Given the description of an element on the screen output the (x, y) to click on. 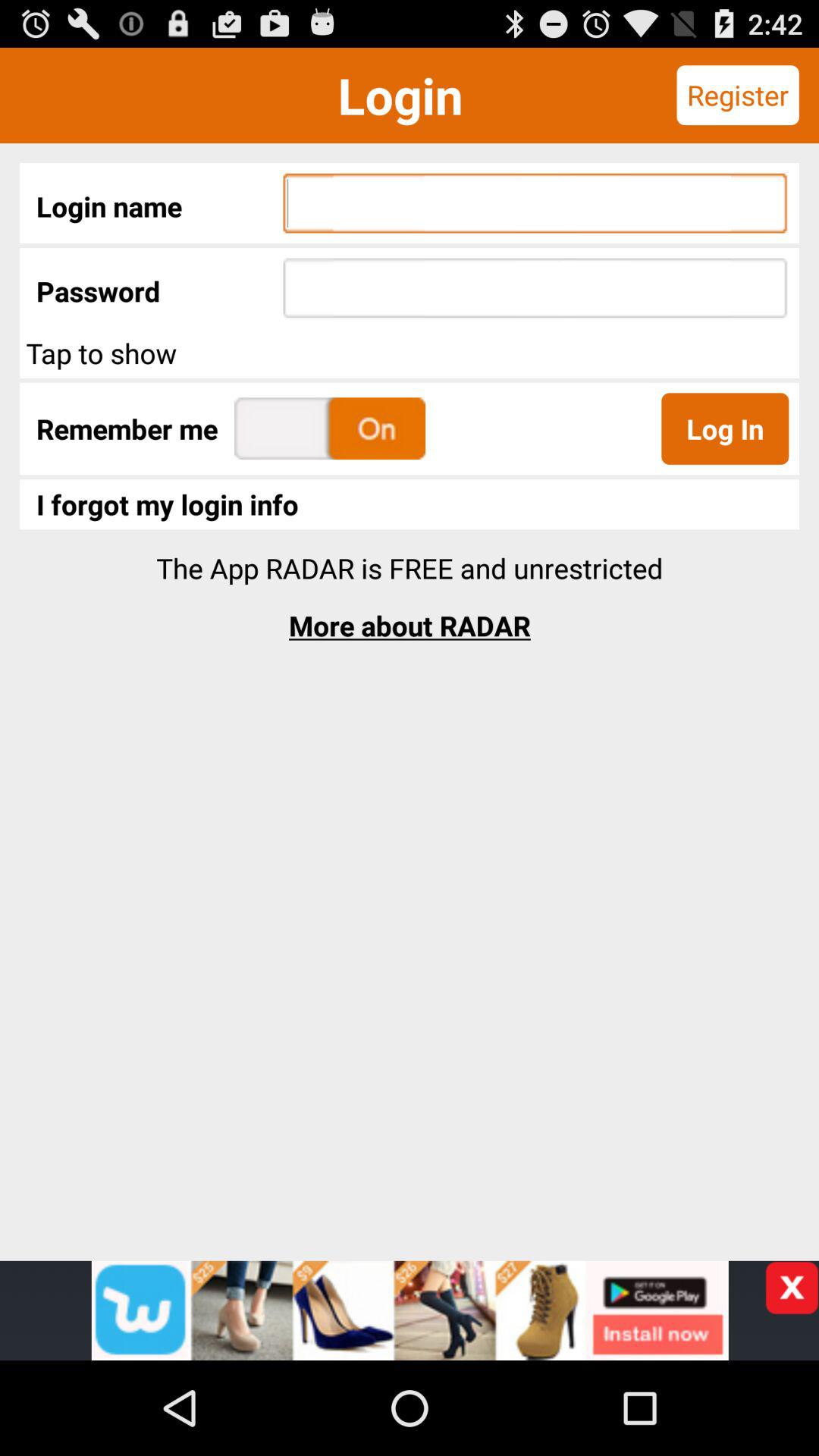
close advertisement (791, 1287)
